Given the description of an element on the screen output the (x, y) to click on. 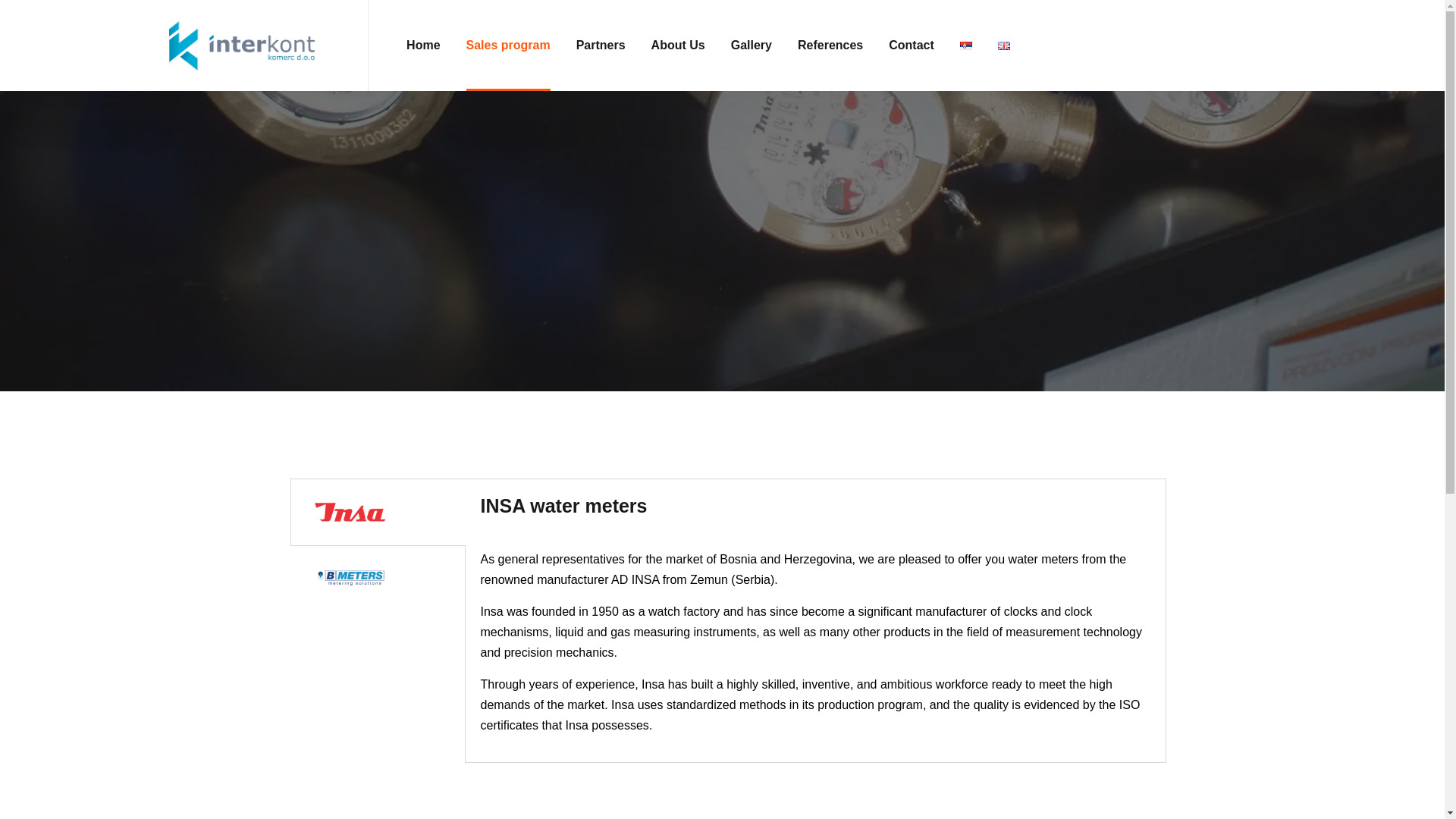
Partners (601, 45)
Contact (911, 45)
Interkont Komerc (242, 45)
Home (422, 45)
Sales program (507, 45)
About Us (678, 45)
References (830, 45)
Gallery (750, 45)
